Given the description of an element on the screen output the (x, y) to click on. 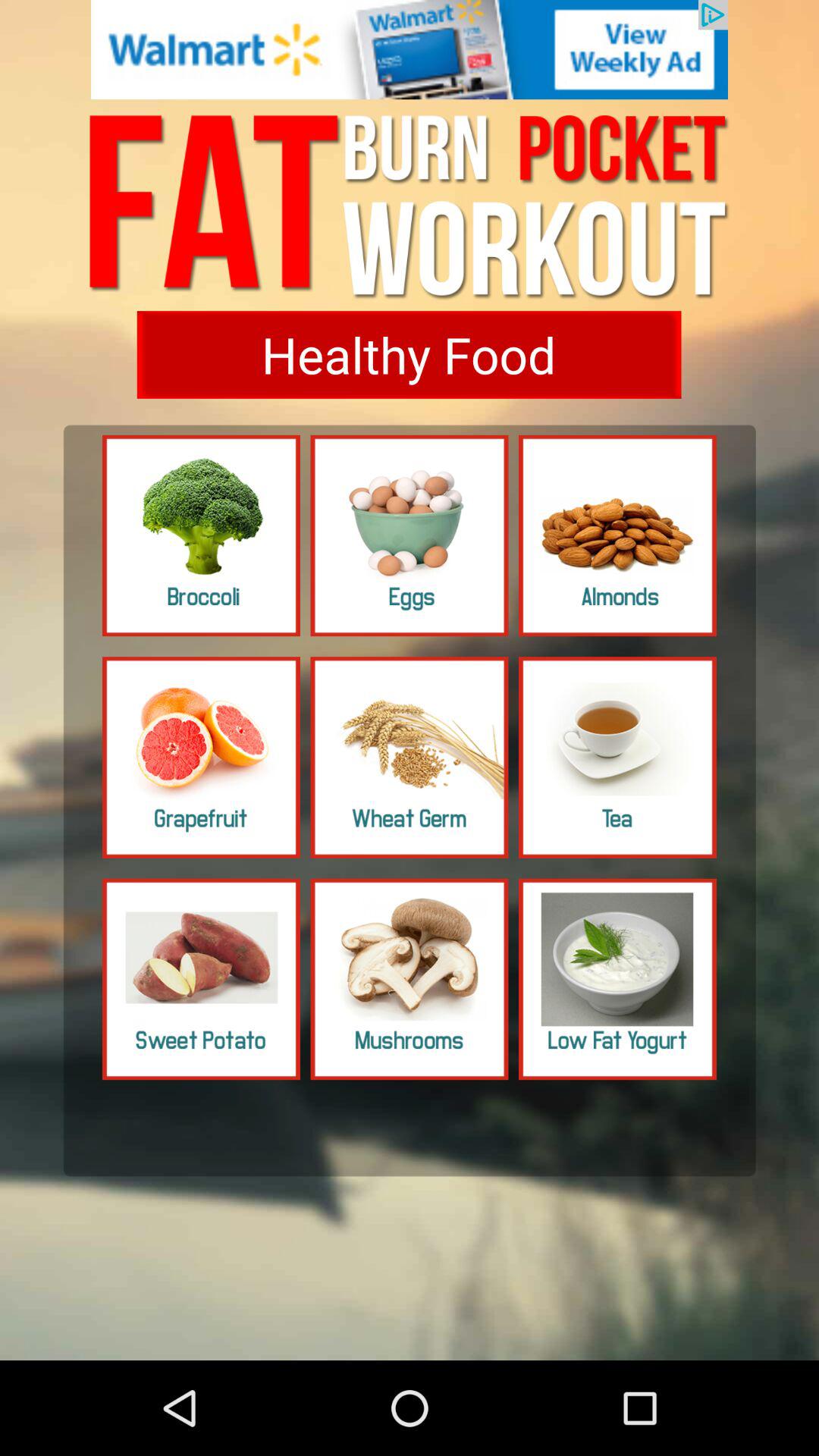
healthy food button (409, 354)
